Given the description of an element on the screen output the (x, y) to click on. 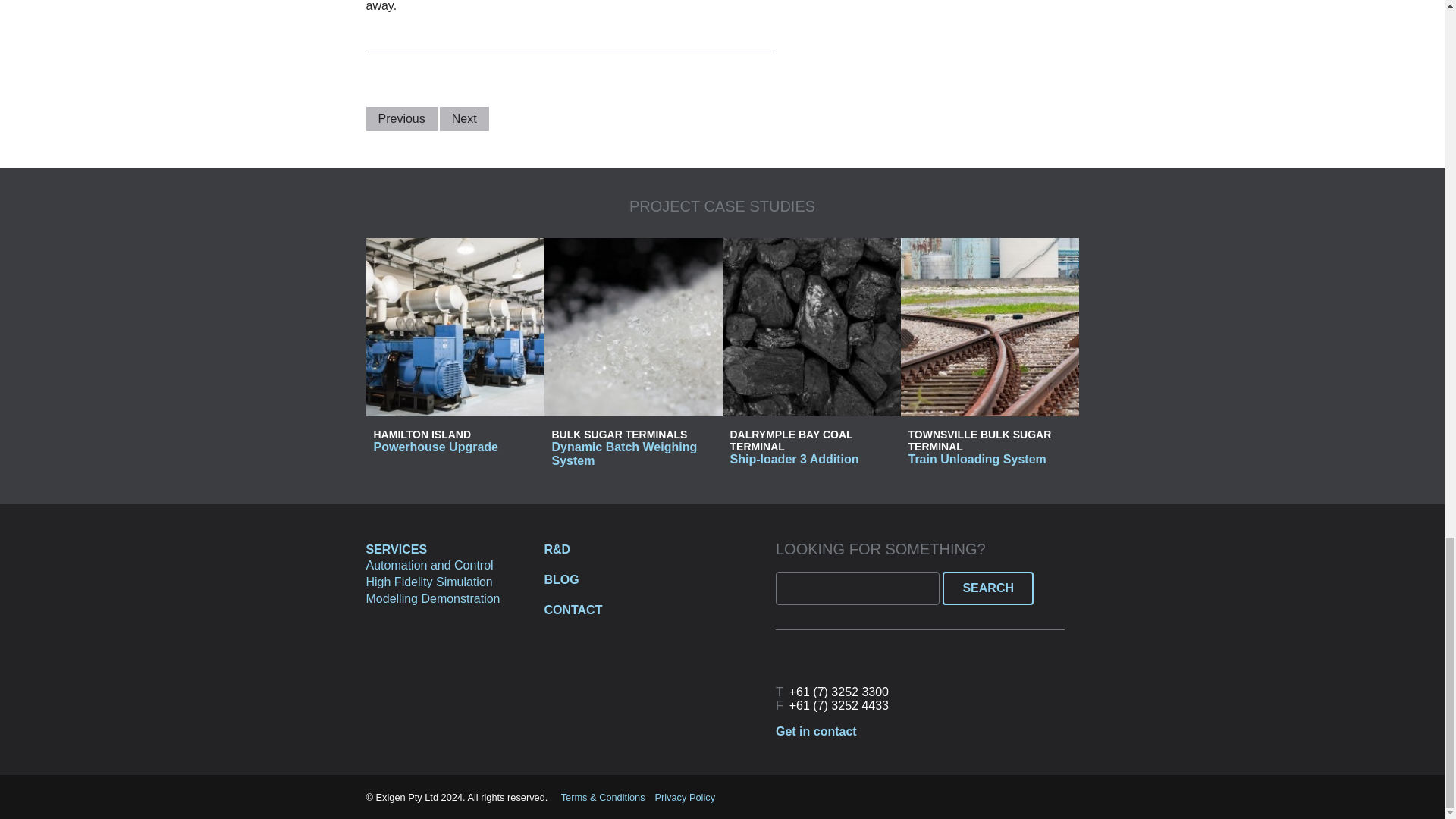
Ship-loader 3 Addition (794, 459)
Powerhouse Upgrade (434, 446)
Search (987, 587)
Dynamic Batch Weighing System (624, 453)
Next (464, 119)
Previous (400, 119)
Get in contact (816, 730)
